Given the description of an element on the screen output the (x, y) to click on. 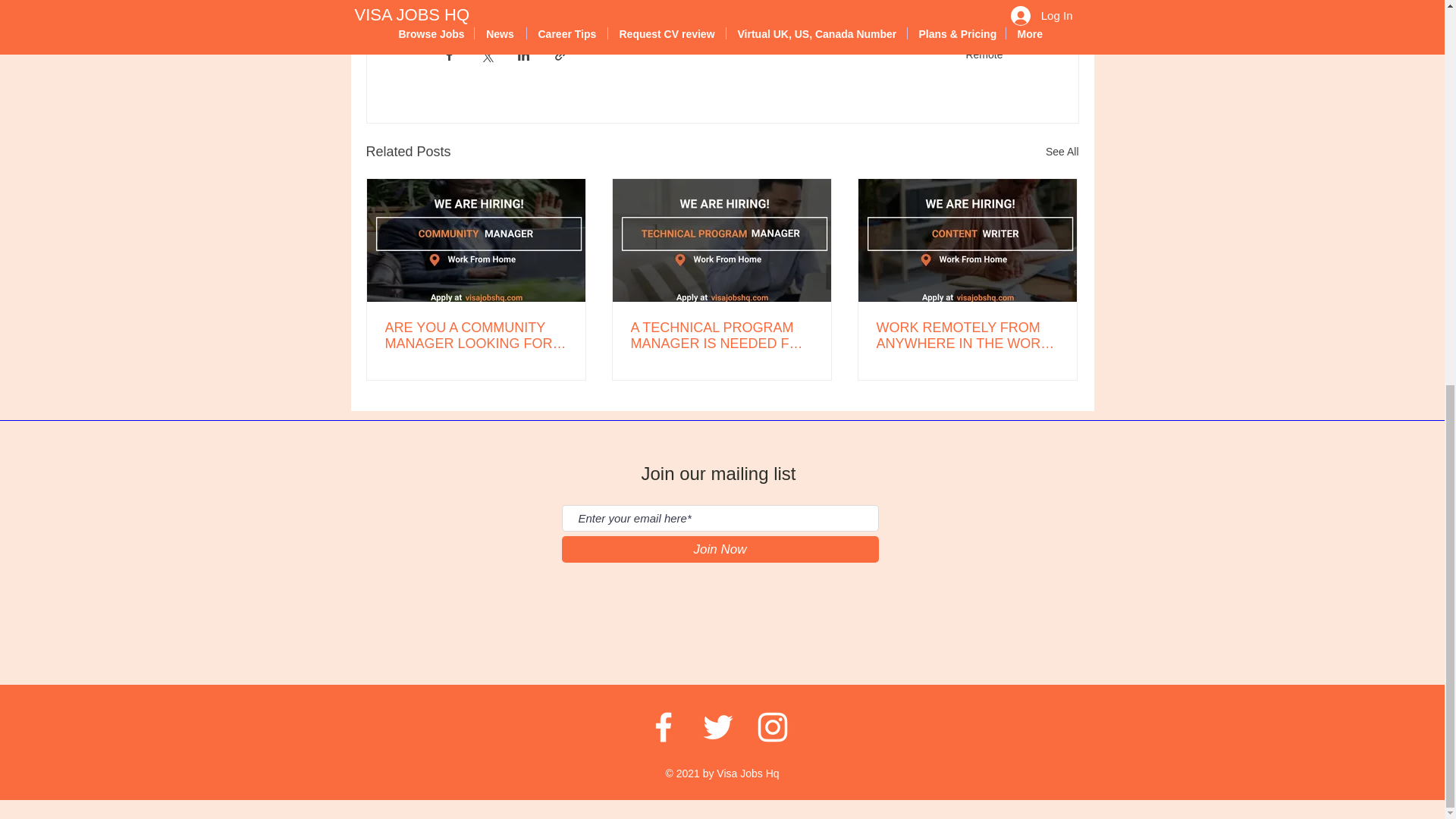
Accounting (542, 4)
financial (470, 4)
Remote (984, 54)
